Given the description of an element on the screen output the (x, y) to click on. 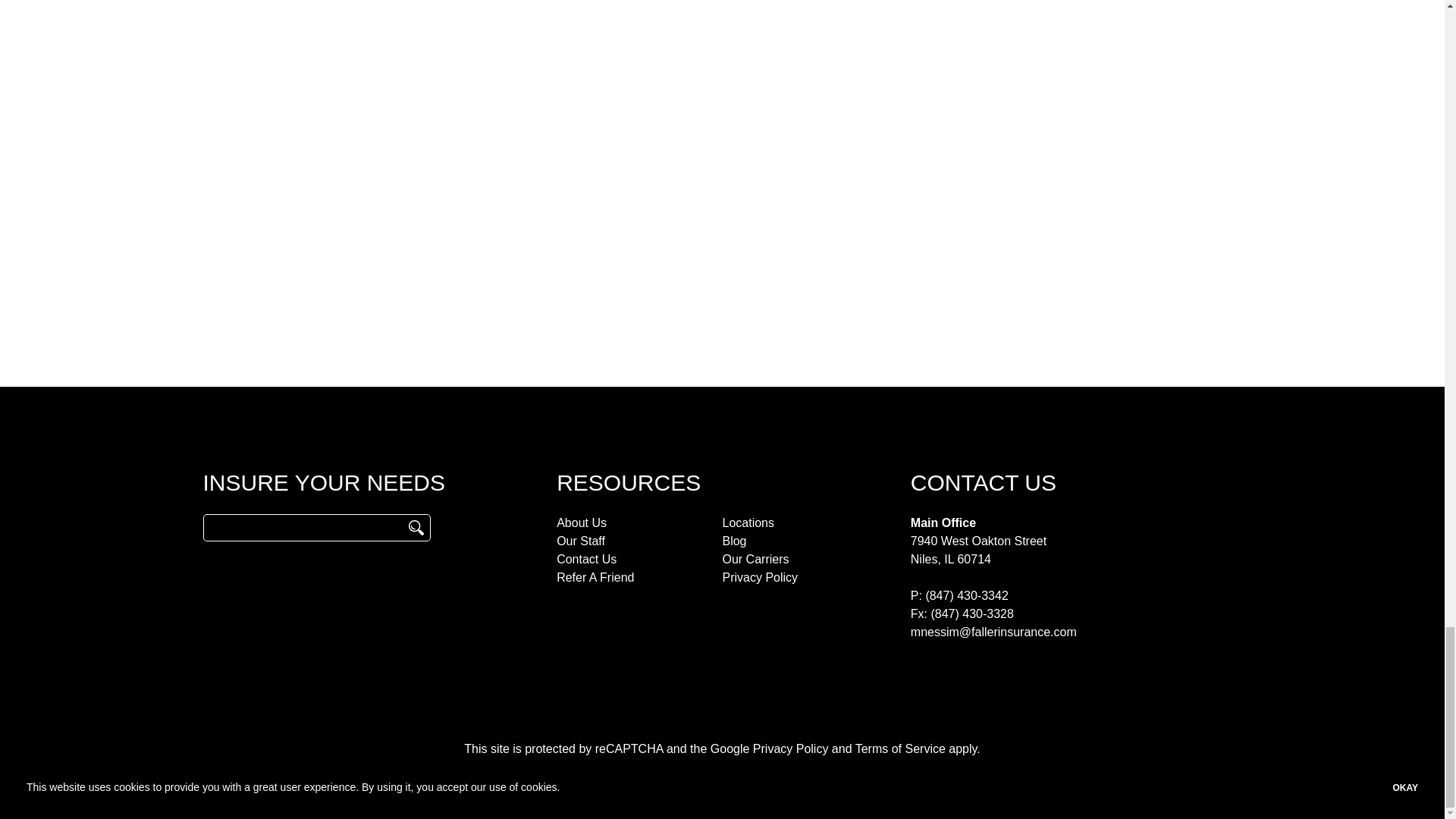
Insurance Website Builder (831, 779)
Search (416, 527)
